Given the description of an element on the screen output the (x, y) to click on. 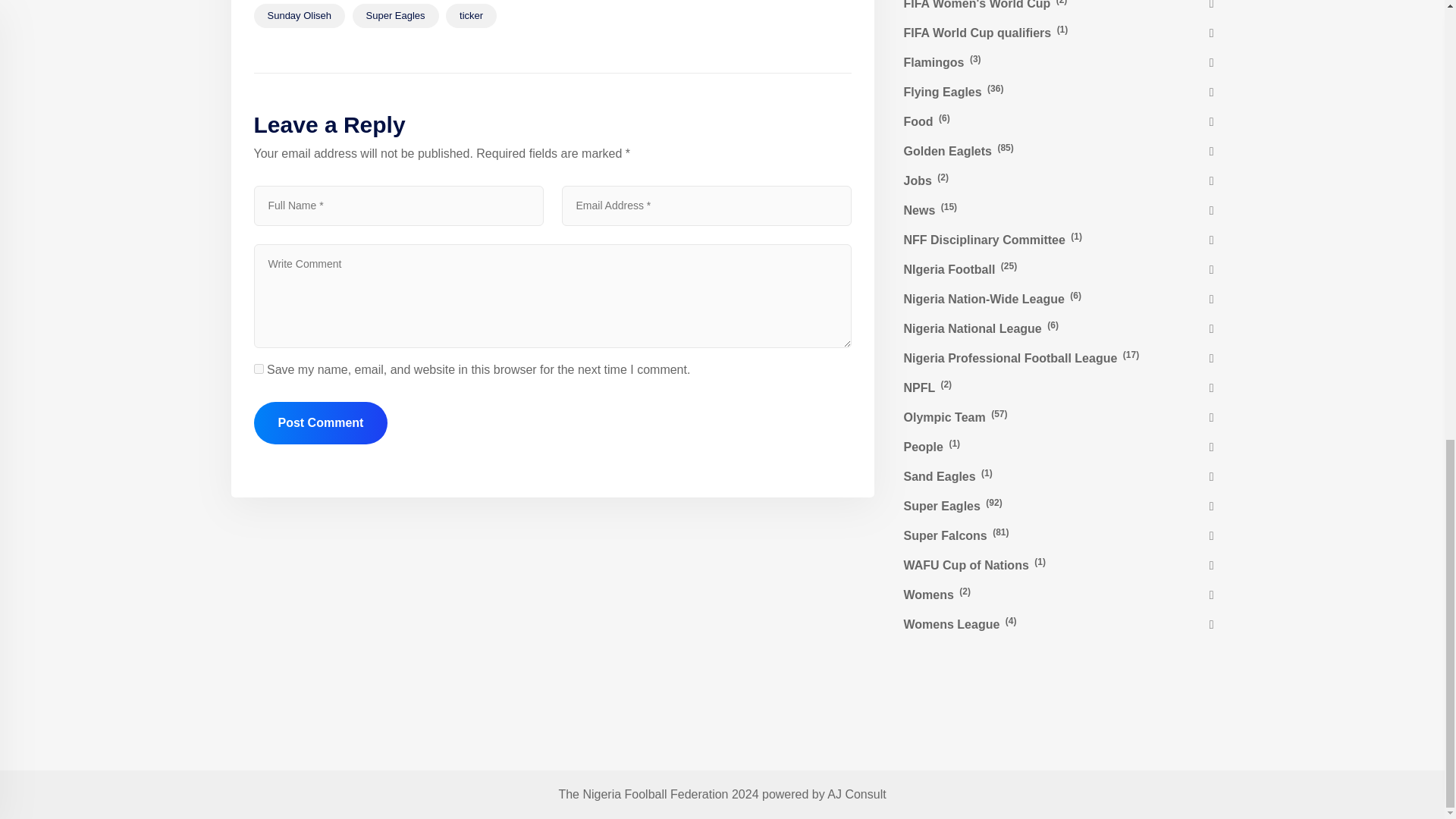
yes (258, 368)
Post Comment (320, 423)
